Given the description of an element on the screen output the (x, y) to click on. 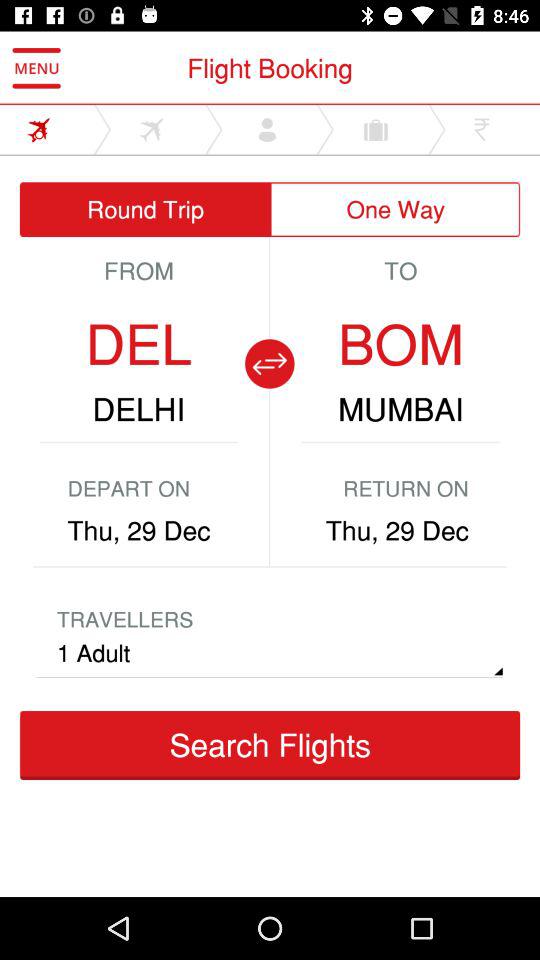
select the check-in icon (134, 789)
